Given the description of an element on the screen output the (x, y) to click on. 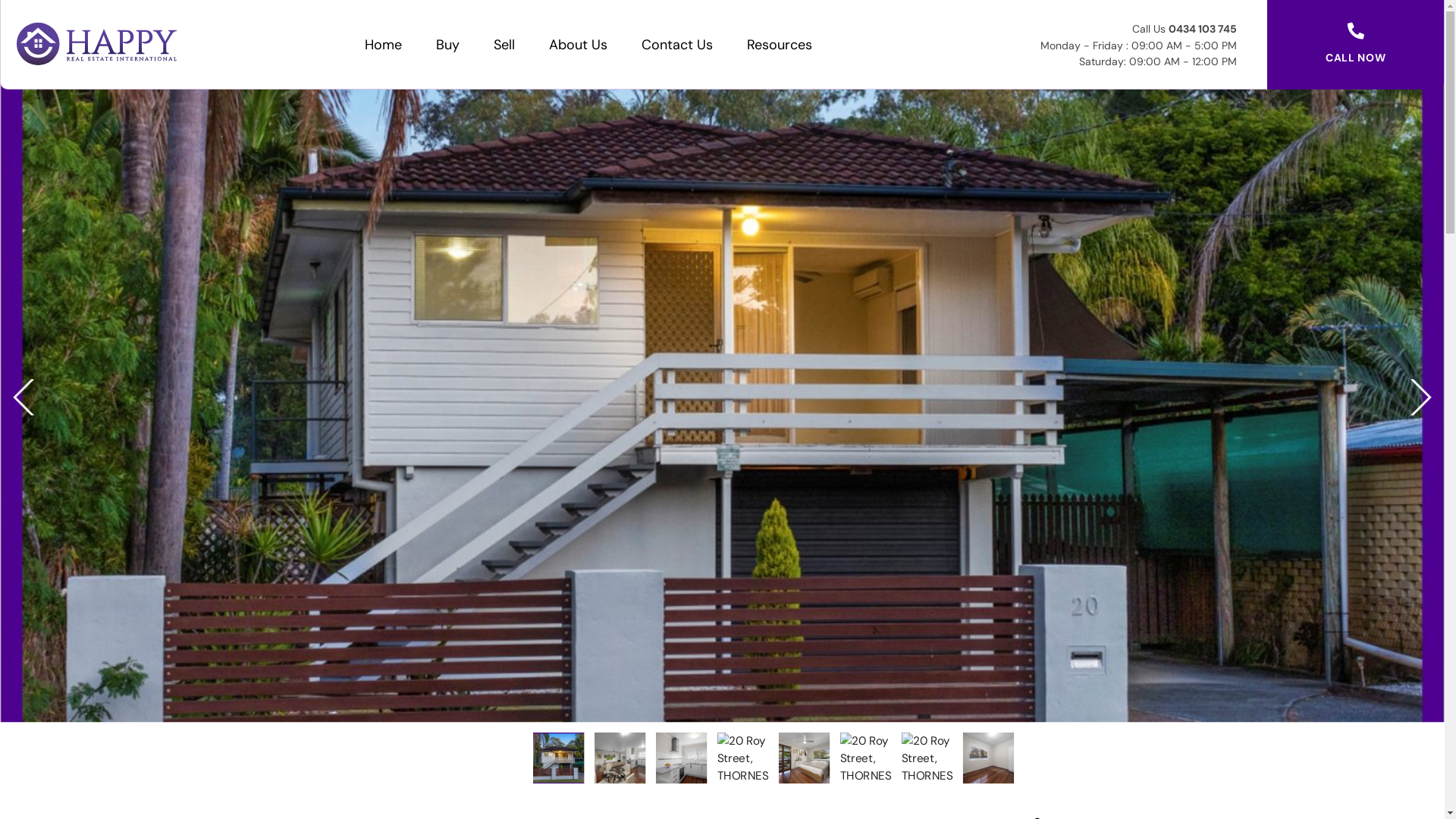
Sell Element type: text (503, 43)
Home Element type: text (382, 43)
Contact Us Element type: text (676, 43)
About Us Element type: text (578, 43)
Buy Element type: text (447, 43)
CALL NOW Element type: text (1355, 57)
Call Us 0434 103 745 Element type: text (1184, 27)
Resources Element type: text (779, 43)
